Given the description of an element on the screen output the (x, y) to click on. 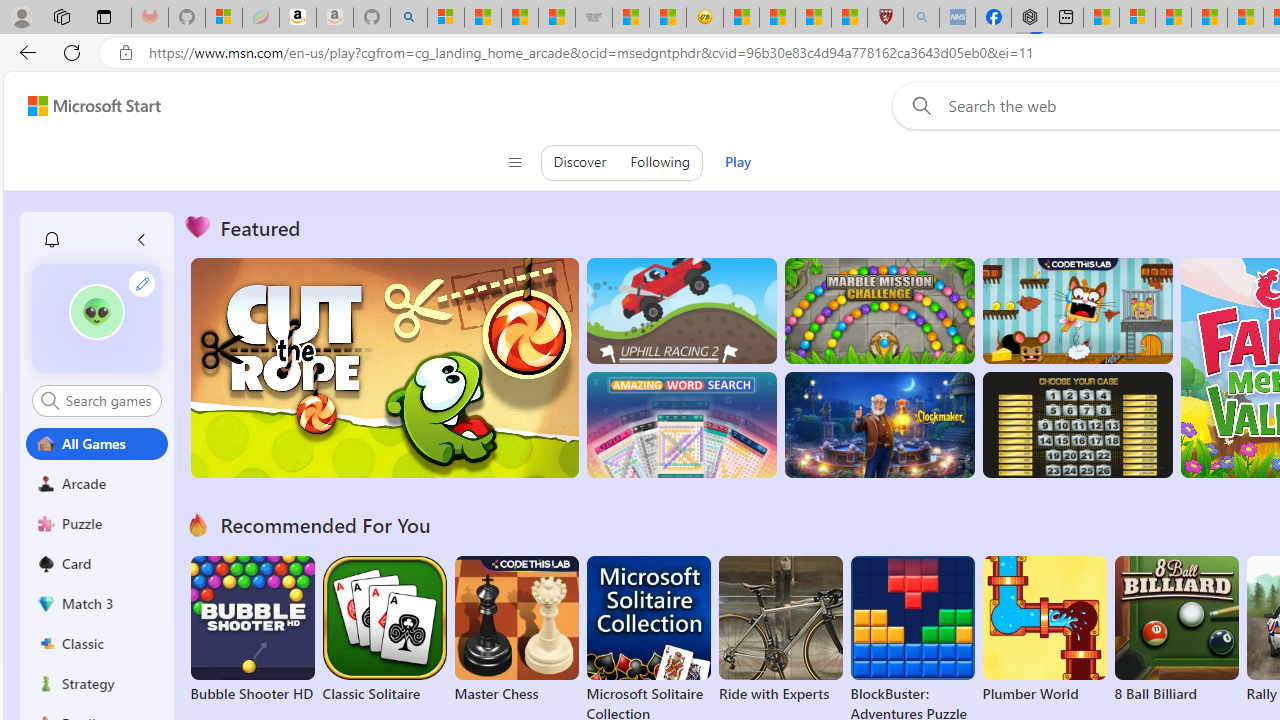
8 Ball Billiard (1176, 629)
Class: search-icon (50, 400)
Ride with Experts (780, 694)
